Given the description of an element on the screen output the (x, y) to click on. 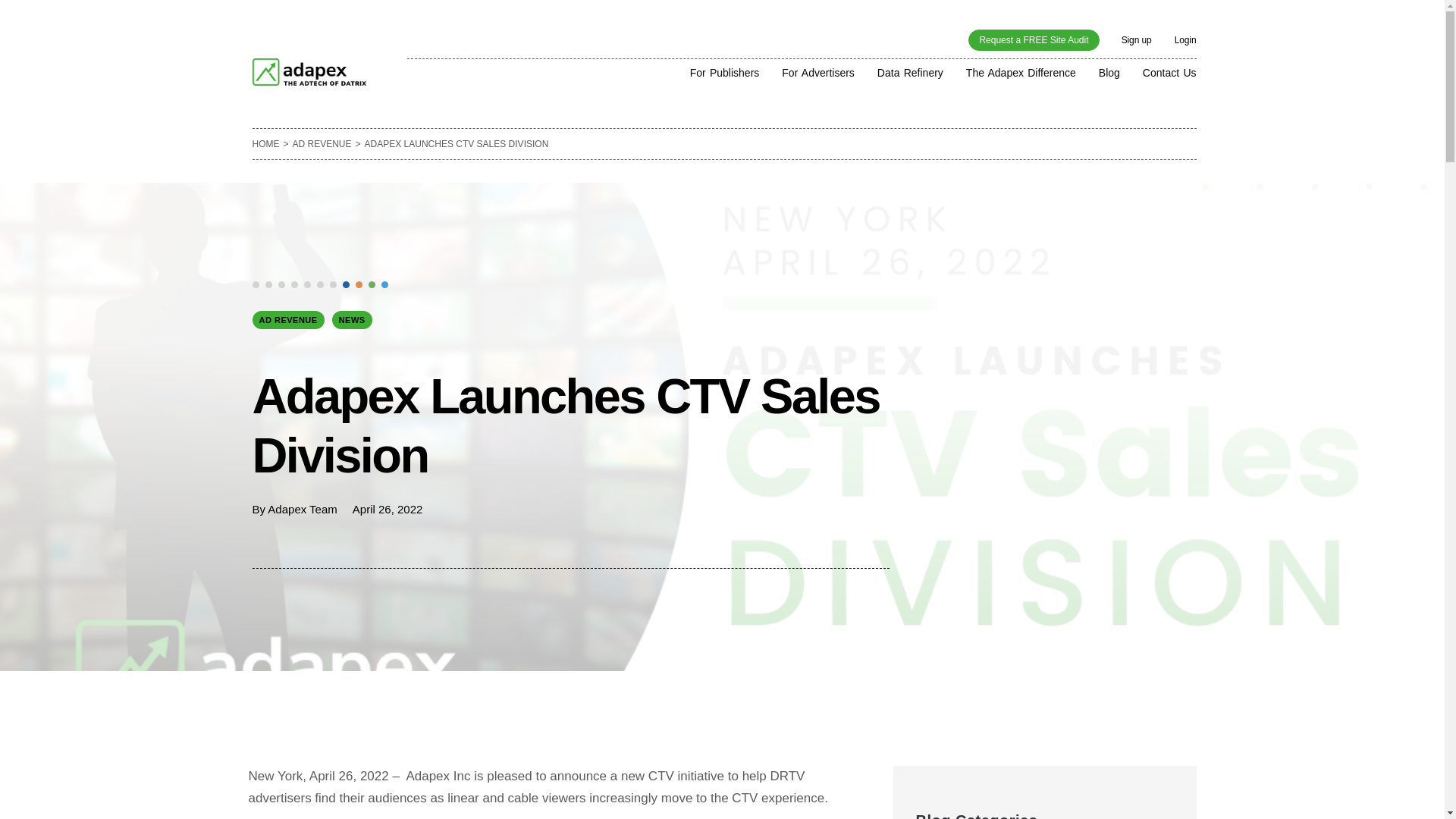
Contact Us (1169, 71)
AD REVENUE (287, 320)
HOME (265, 143)
NEWS (351, 320)
Sign up (1136, 40)
Login (1185, 40)
For Advertisers (817, 71)
Home (265, 143)
For Publishers (725, 71)
AD REVENUE (322, 143)
